Given the description of an element on the screen output the (x, y) to click on. 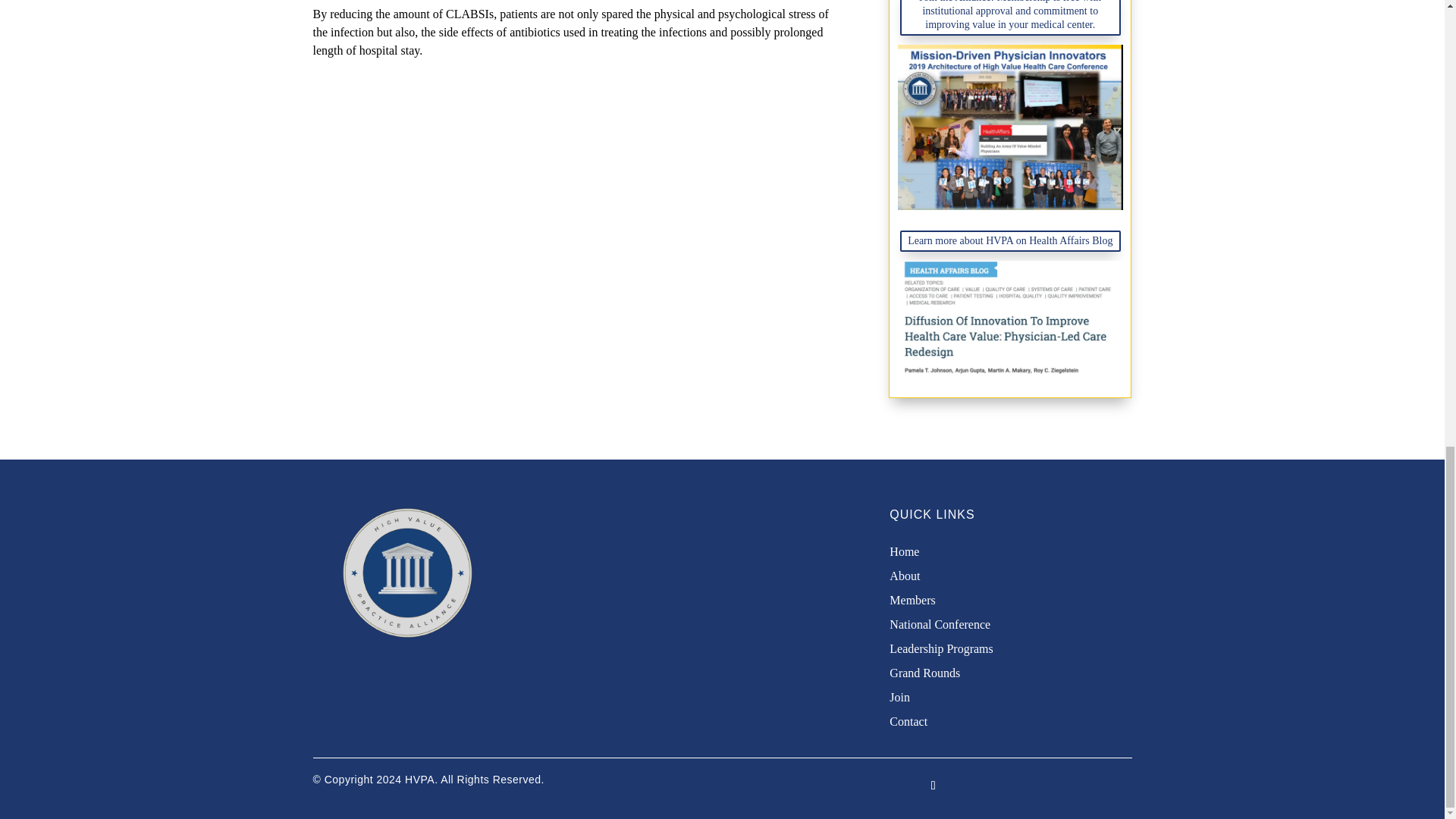
Follow on X (932, 785)
